Given the description of an element on the screen output the (x, y) to click on. 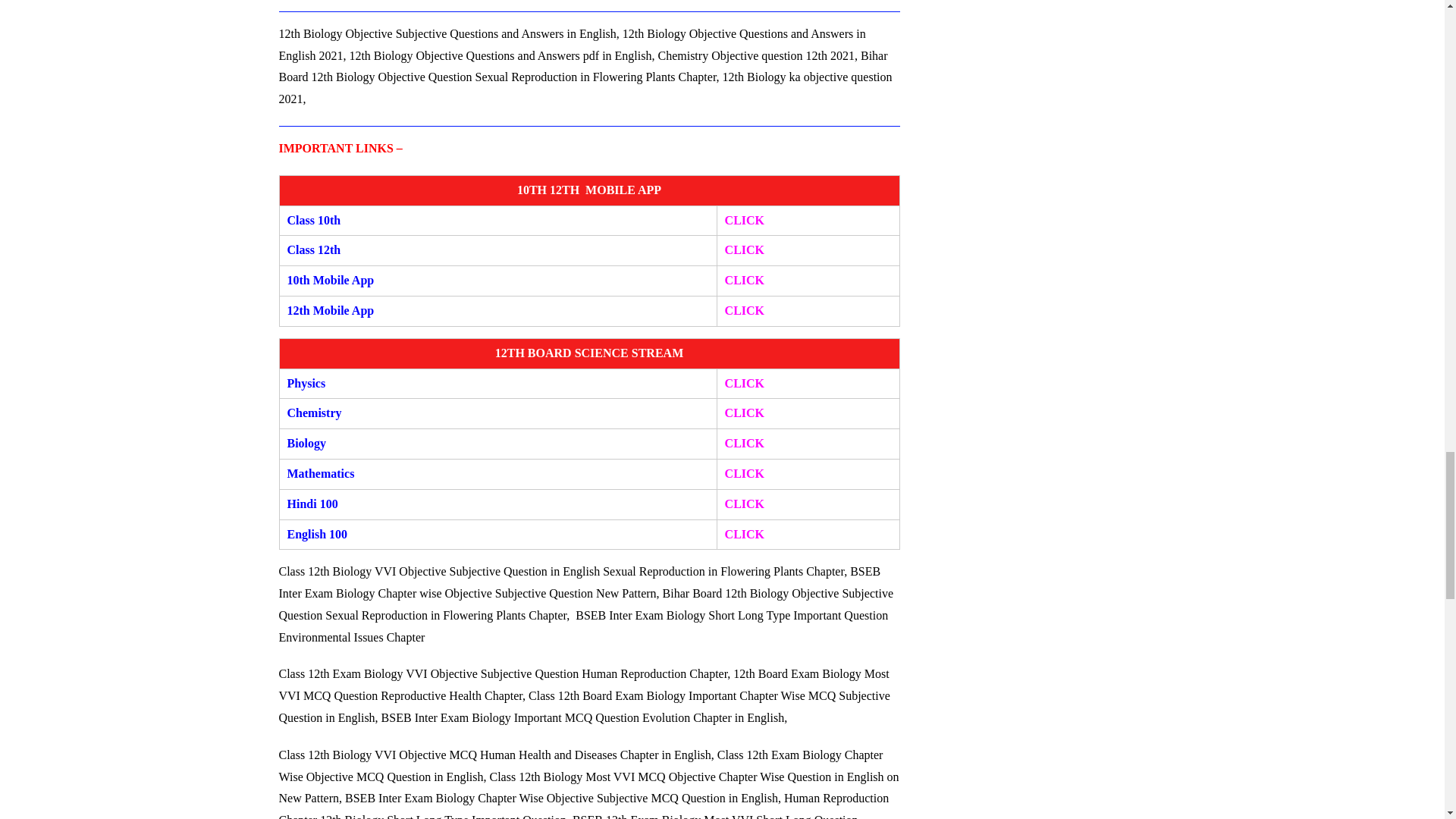
CLICK (744, 533)
CLICK (744, 412)
CLICK (744, 219)
CLICK (744, 472)
CLICK (744, 503)
12th Mobile App (330, 309)
CLICK (744, 382)
CLICK (744, 442)
CLIC (740, 309)
CLICK (744, 249)
